Given the description of an element on the screen output the (x, y) to click on. 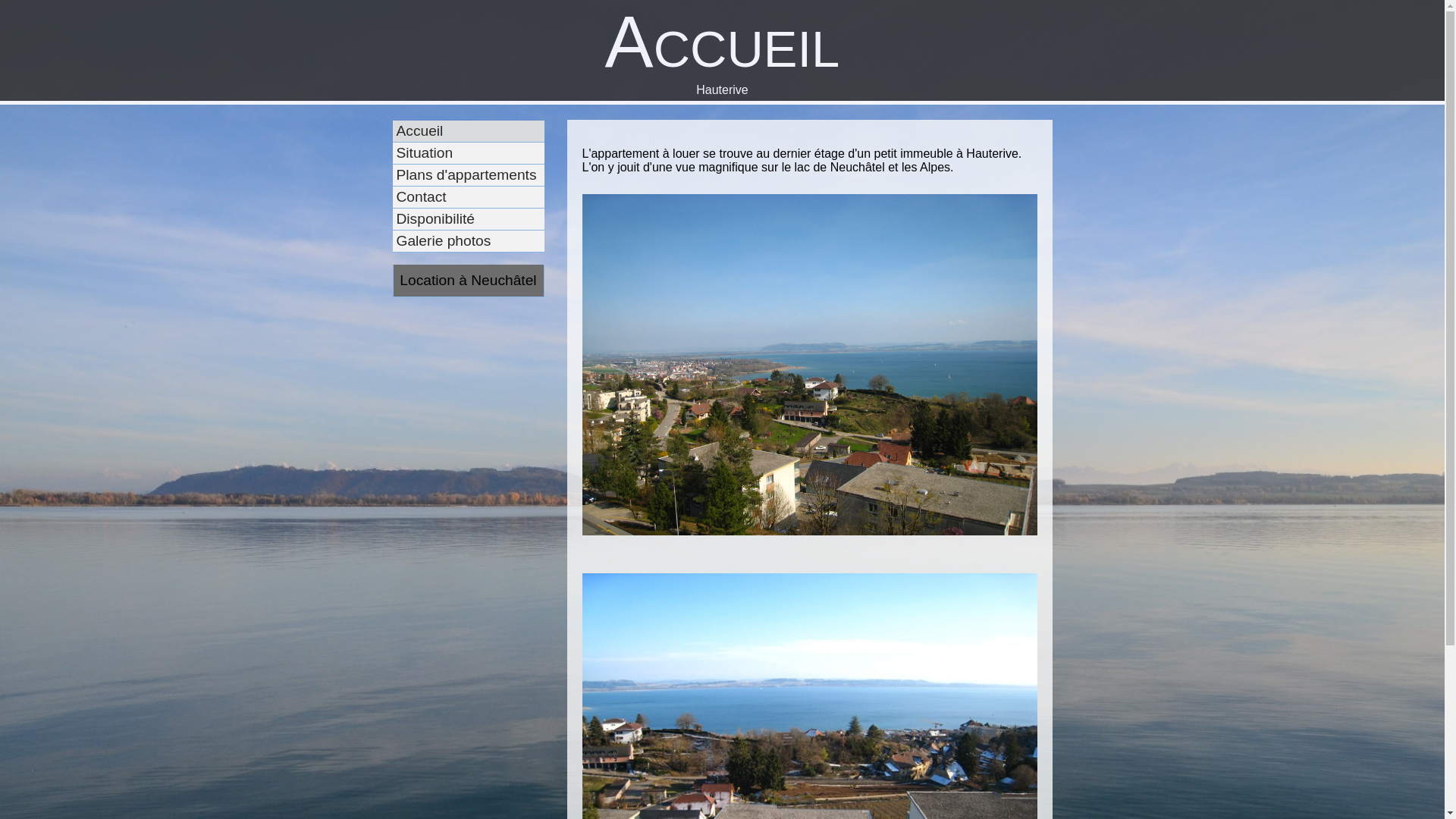
Situation Element type: text (483, 153)
La vue depuis l'appartement Element type: hover (809, 372)
Accueil Element type: text (483, 131)
Contact Element type: text (483, 197)
Galerie photos Element type: text (483, 241)
Plans d'appartements Element type: text (483, 175)
